Given the description of an element on the screen output the (x, y) to click on. 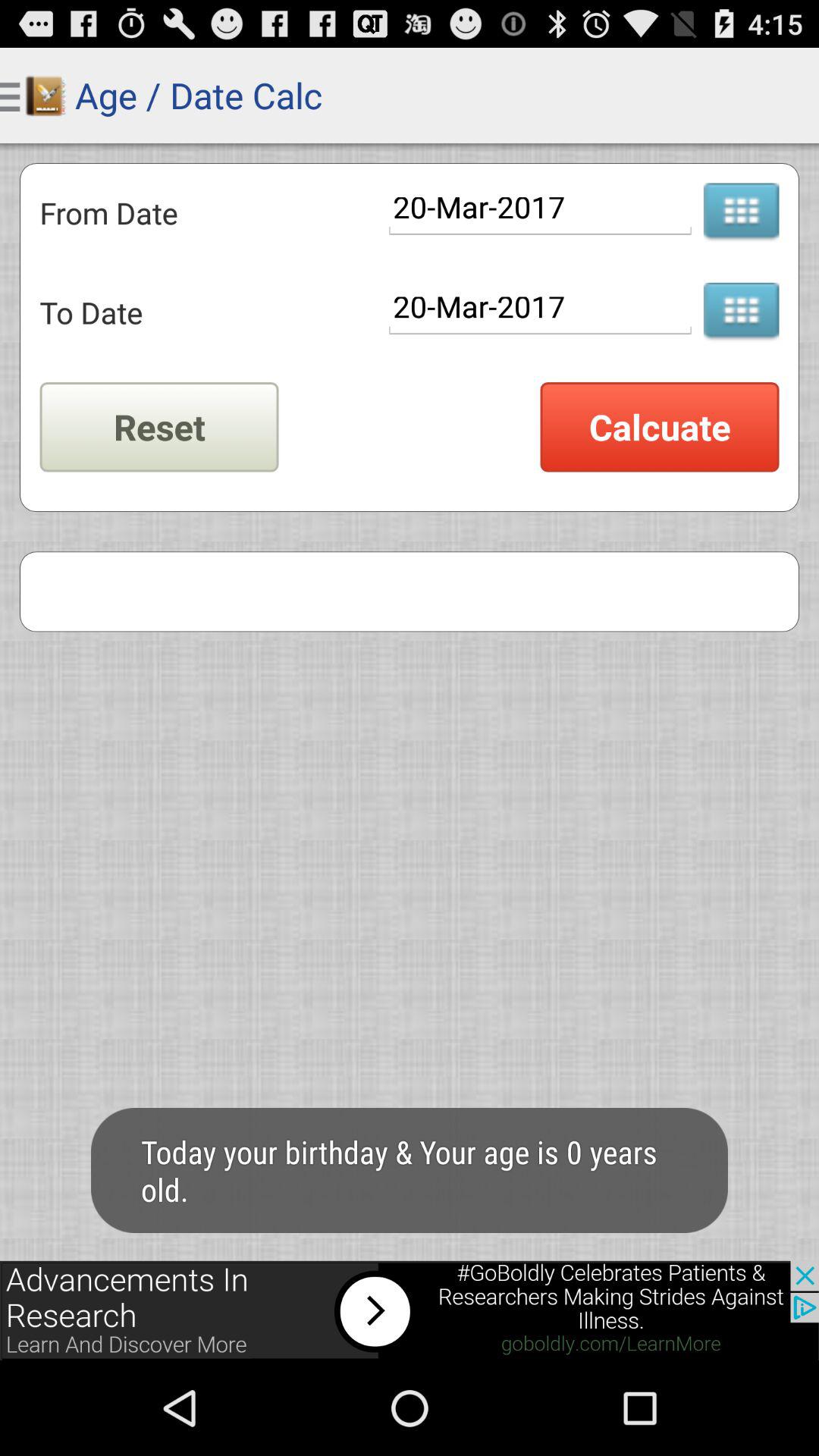
select date using calendar (741, 212)
